Given the description of an element on the screen output the (x, y) to click on. 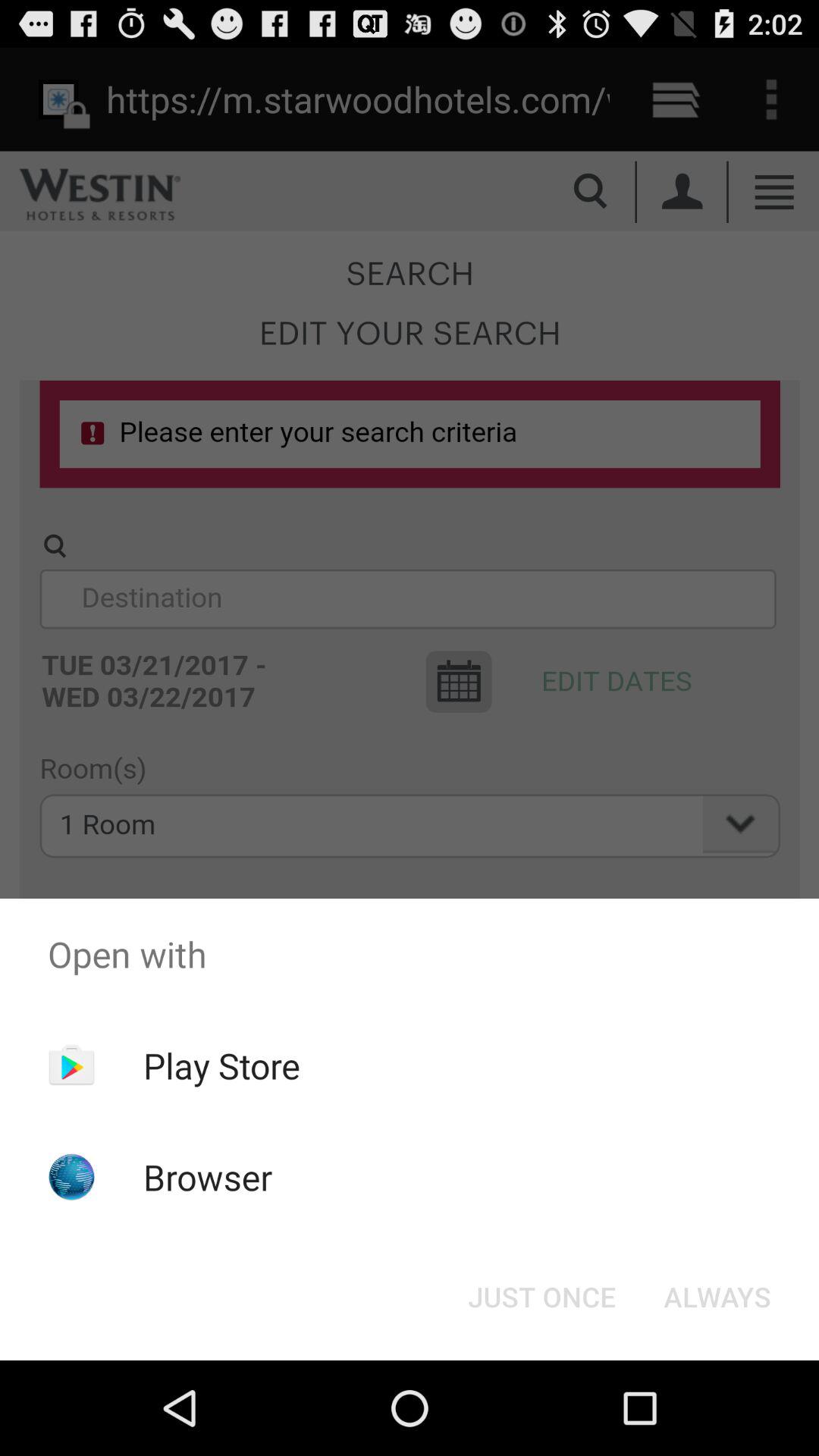
open the item below the open with icon (717, 1296)
